Given the description of an element on the screen output the (x, y) to click on. 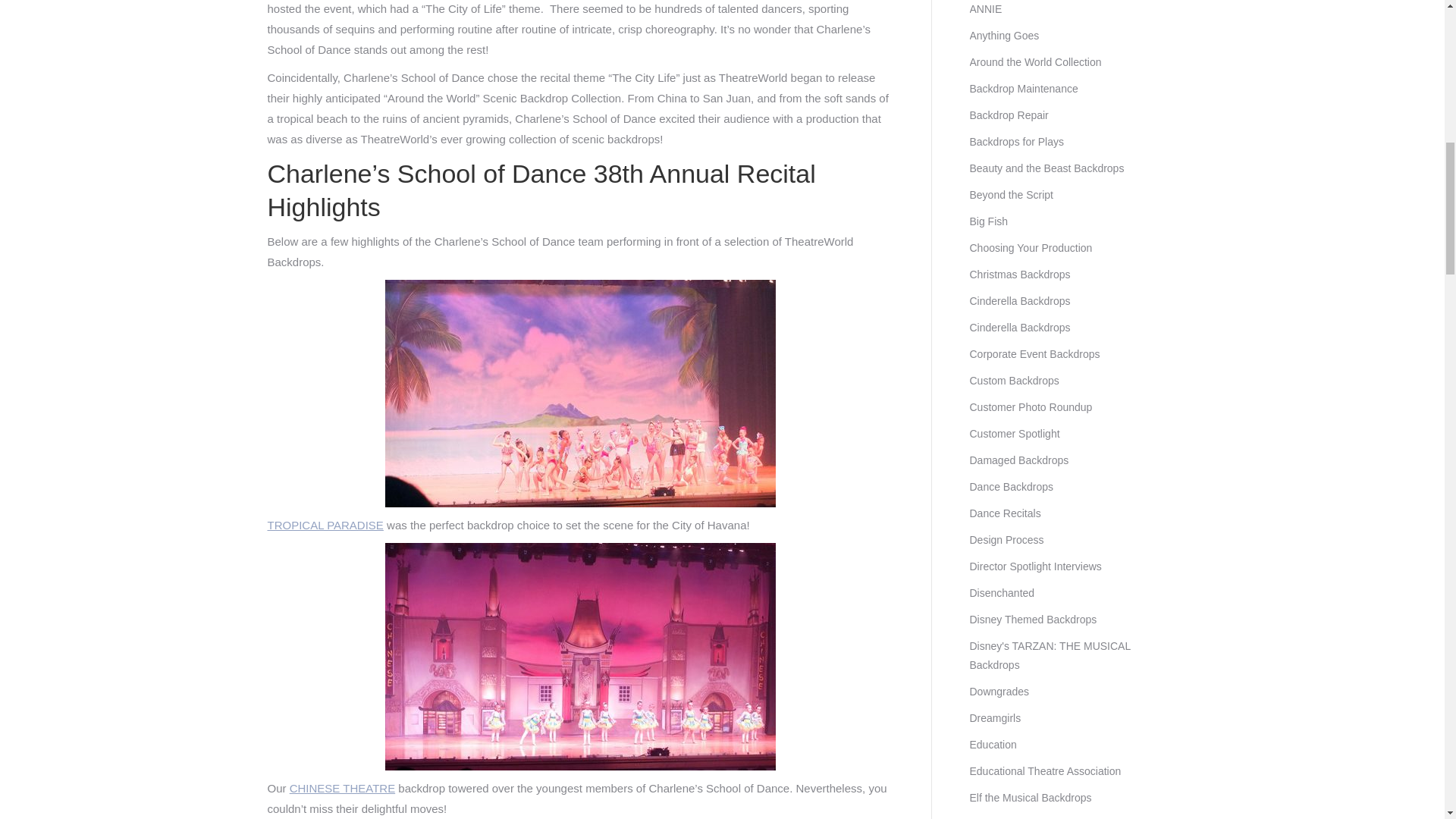
CHINESE THEATRE (341, 788)
TROPICAL PARADISE (324, 524)
Chinese Theater Backdrop Charlene's School of Dance (580, 656)
Tropical Paradise Backdrop Charlene's School of Dance  (580, 393)
